Given the description of an element on the screen output the (x, y) to click on. 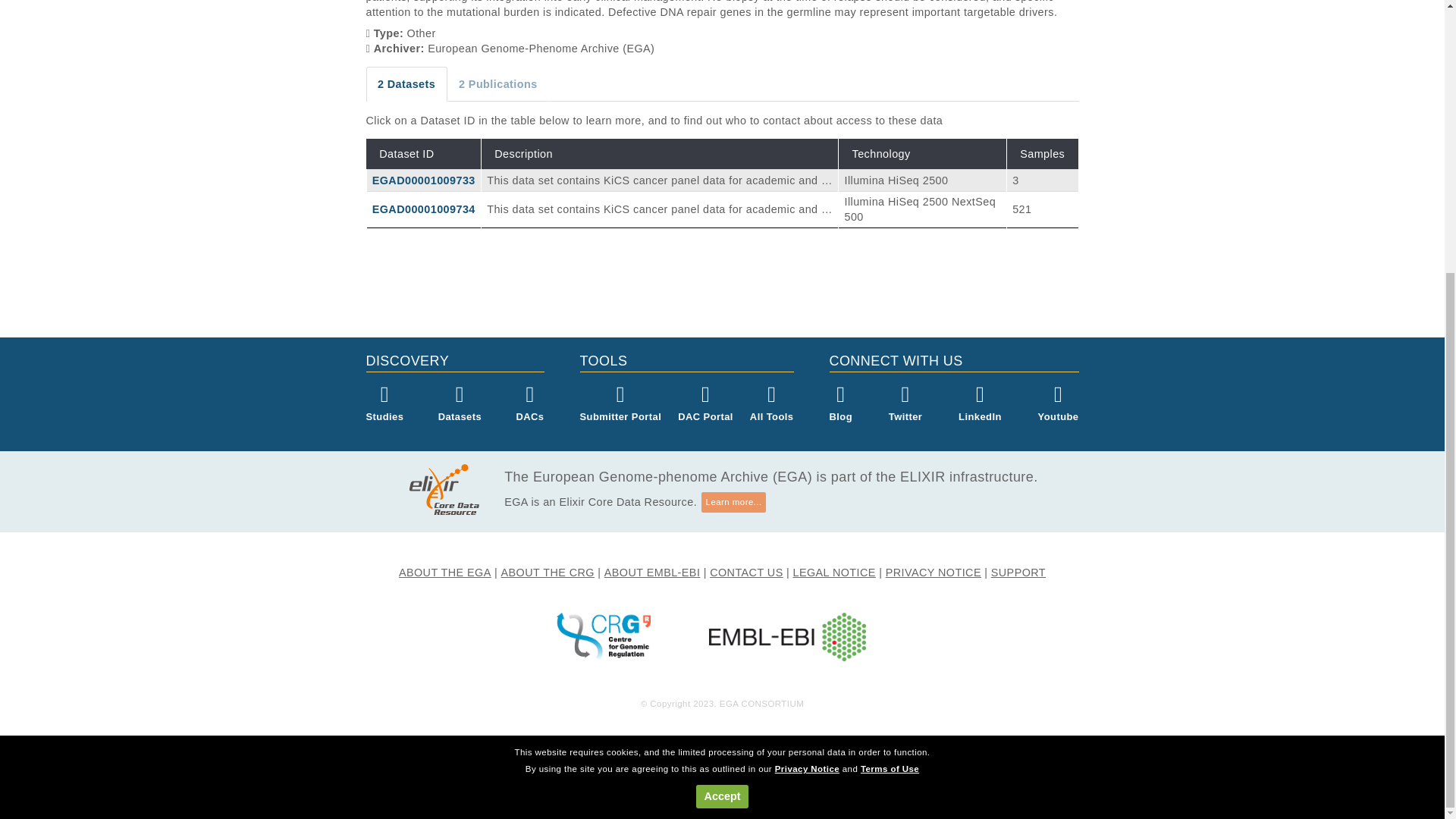
EBI Logo (786, 636)
Elixir Logo (454, 488)
CRG Logo (602, 636)
